Given the description of an element on the screen output the (x, y) to click on. 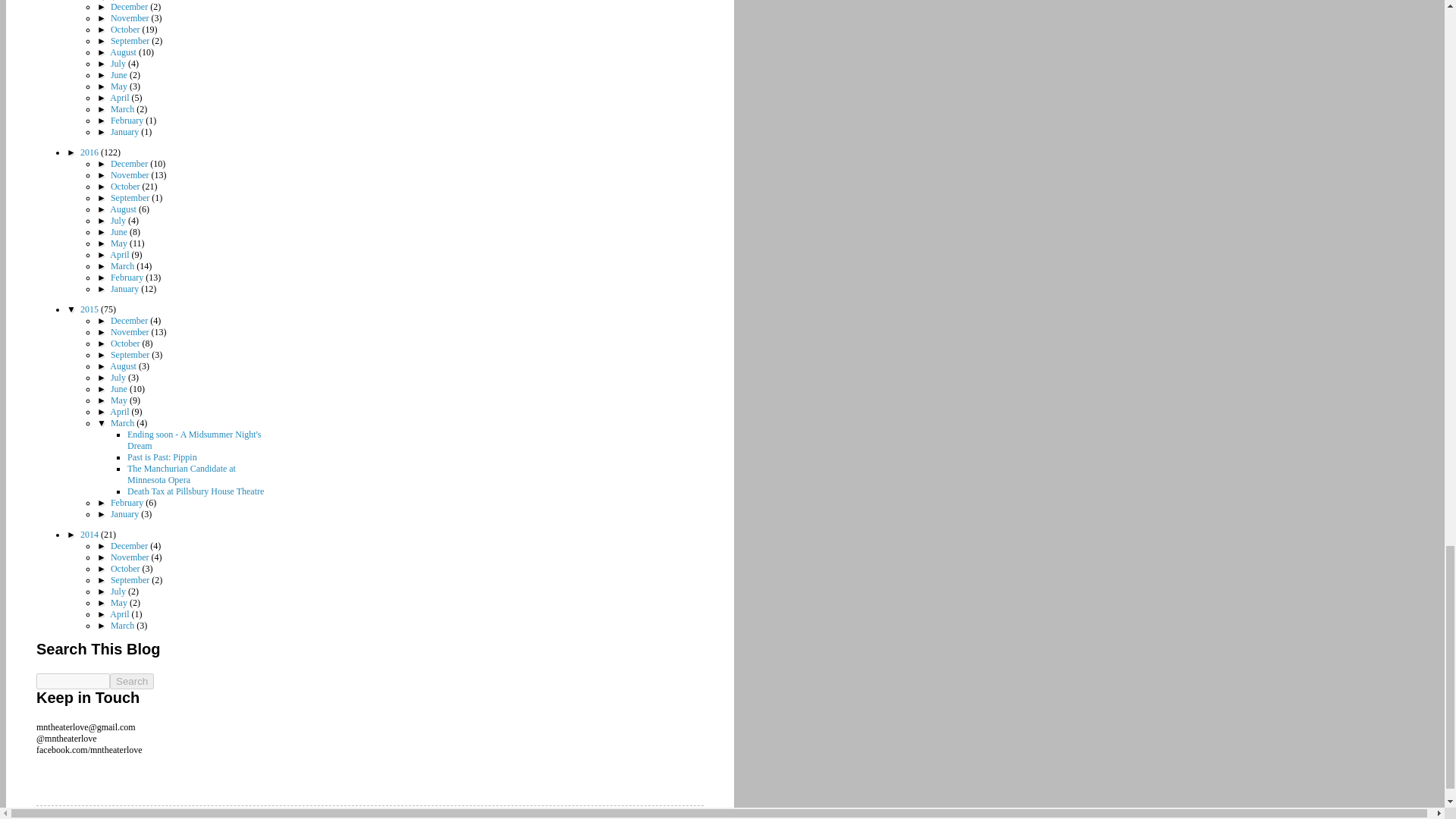
Search (132, 681)
search (73, 681)
search (132, 681)
Search (132, 681)
